Given the description of an element on the screen output the (x, y) to click on. 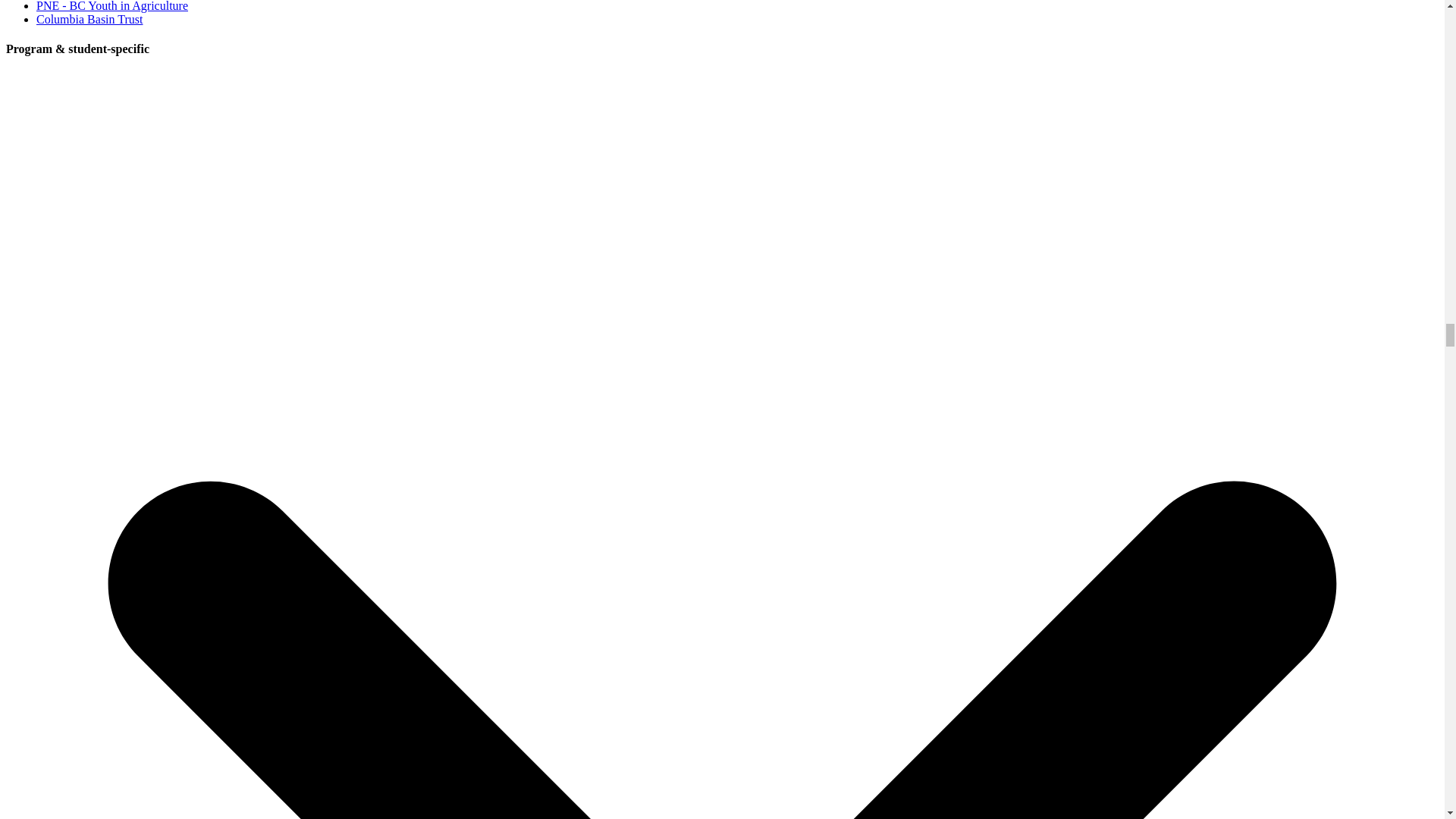
Columbia Basin Trust (89, 19)
PNE - BC Youth in Agriculture (111, 6)
